Given the description of an element on the screen output the (x, y) to click on. 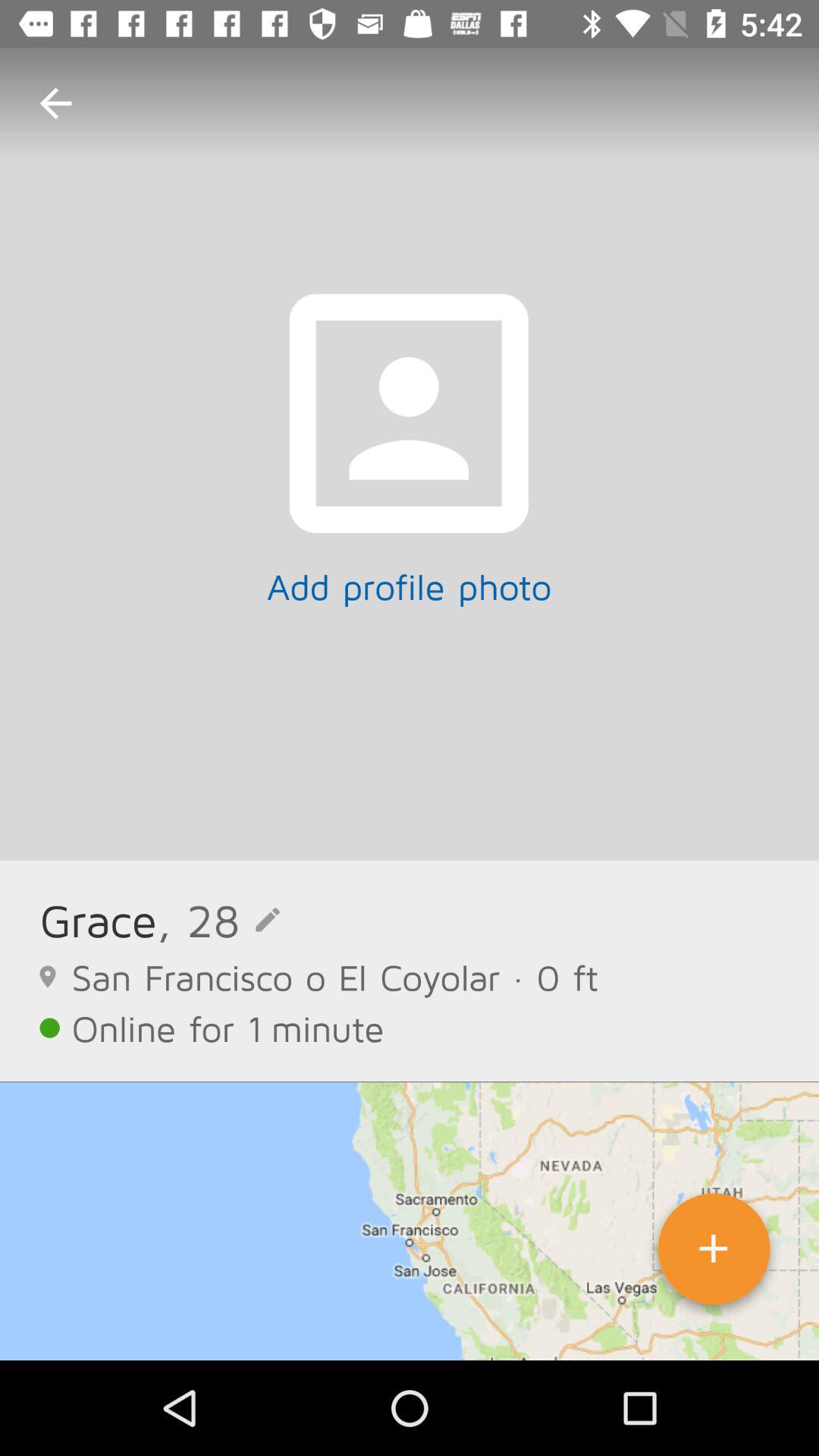
choose the grace item (97, 919)
